Given the description of an element on the screen output the (x, y) to click on. 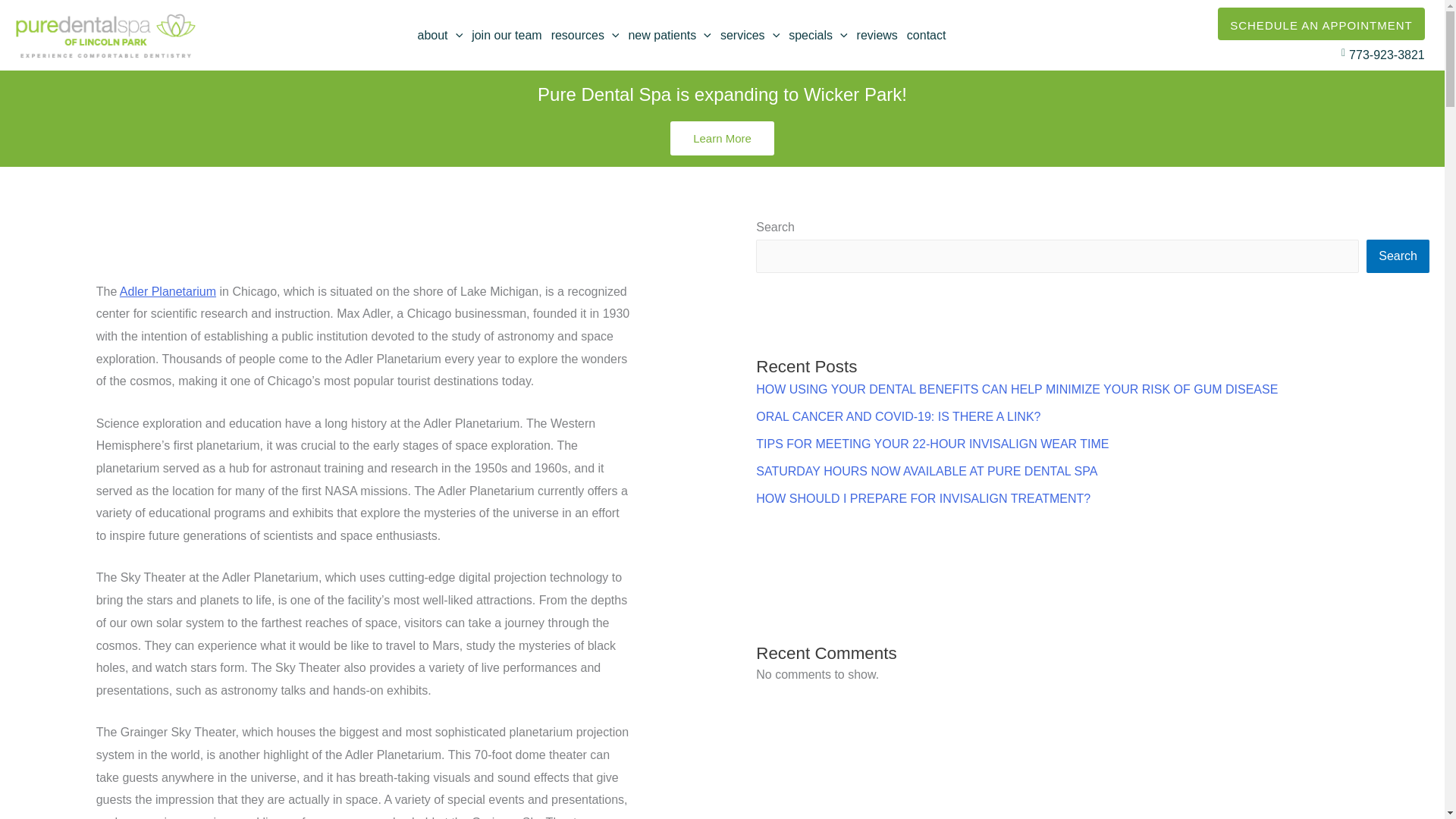
join our team (507, 34)
resources (585, 34)
about (439, 34)
new patients (668, 34)
services (750, 34)
specials (817, 34)
reviews (876, 34)
